Given the description of an element on the screen output the (x, y) to click on. 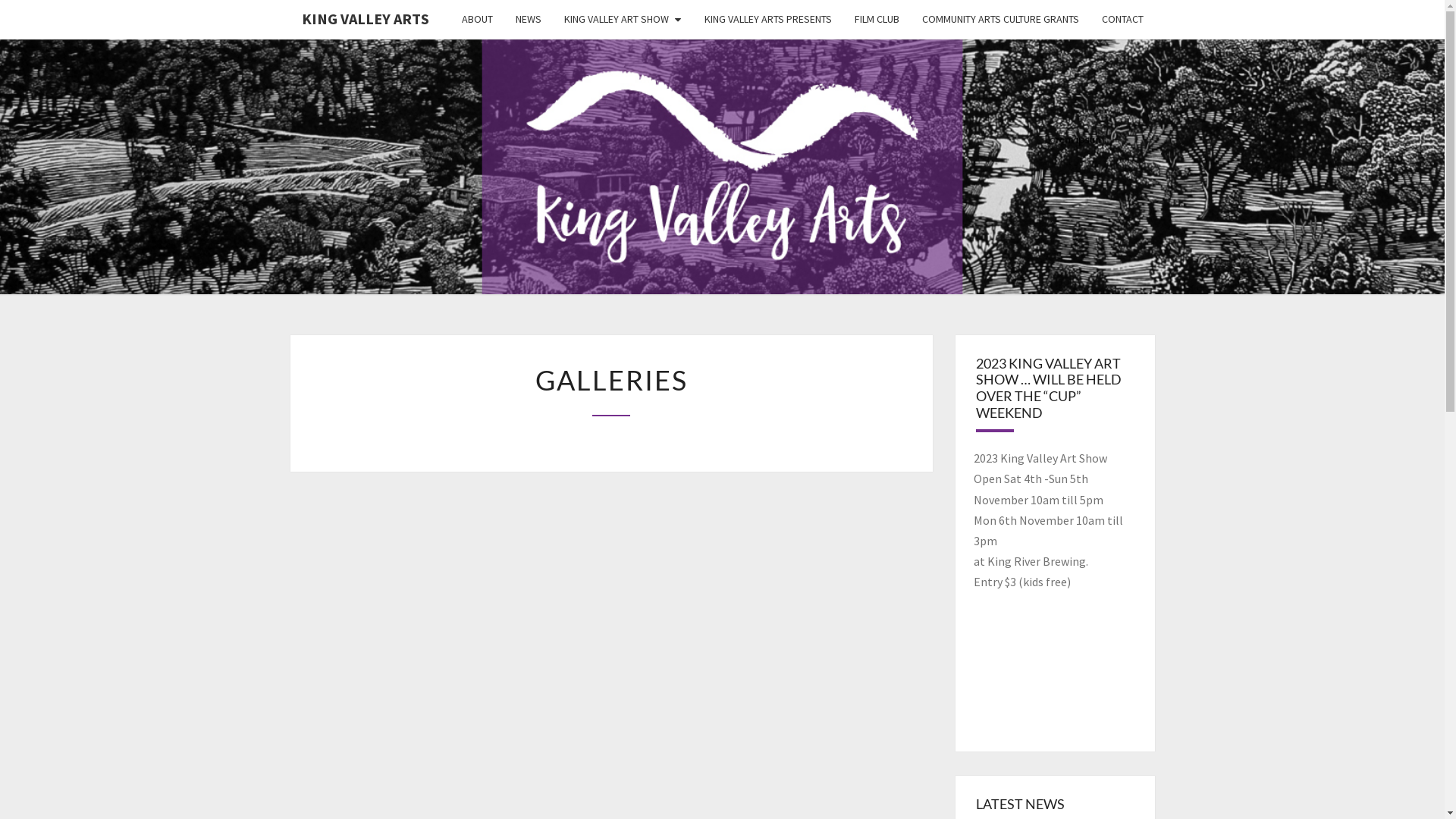
CONTACT Element type: text (1122, 19)
NEWS Element type: text (528, 19)
ABOUT Element type: text (477, 19)
KING VALLEY ARTS PRESENTS Element type: text (768, 19)
COMMUNITY ARTS CULTURE GRANTS Element type: text (999, 19)
FILM CLUB Element type: text (876, 19)
KING VALLEY ARTS Element type: text (364, 18)
KING VALLEY ART SHOW Element type: text (622, 19)
